Given the description of an element on the screen output the (x, y) to click on. 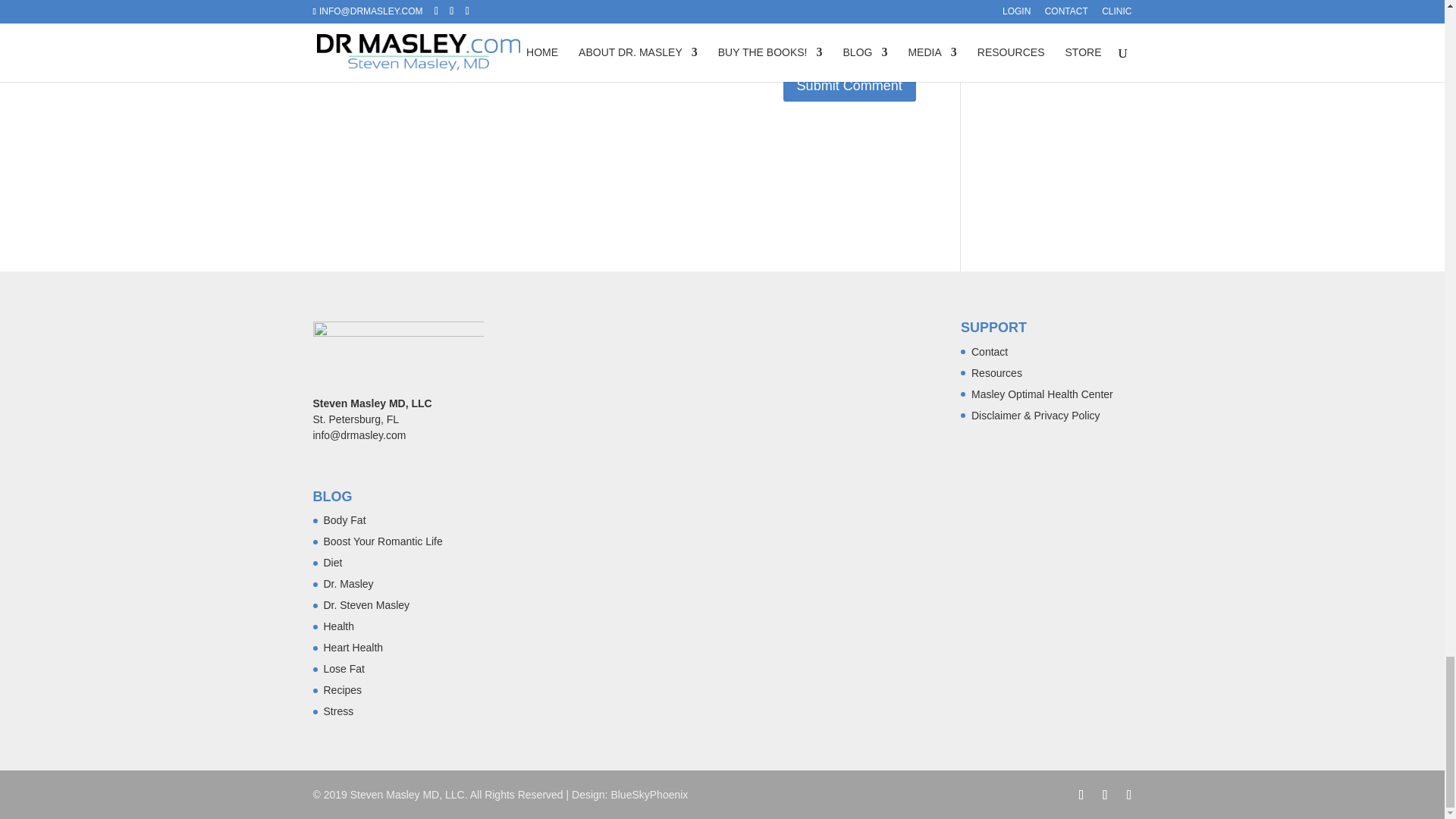
Disclaimer (1035, 415)
Contact (989, 351)
Submit Comment (849, 84)
